Given the description of an element on the screen output the (x, y) to click on. 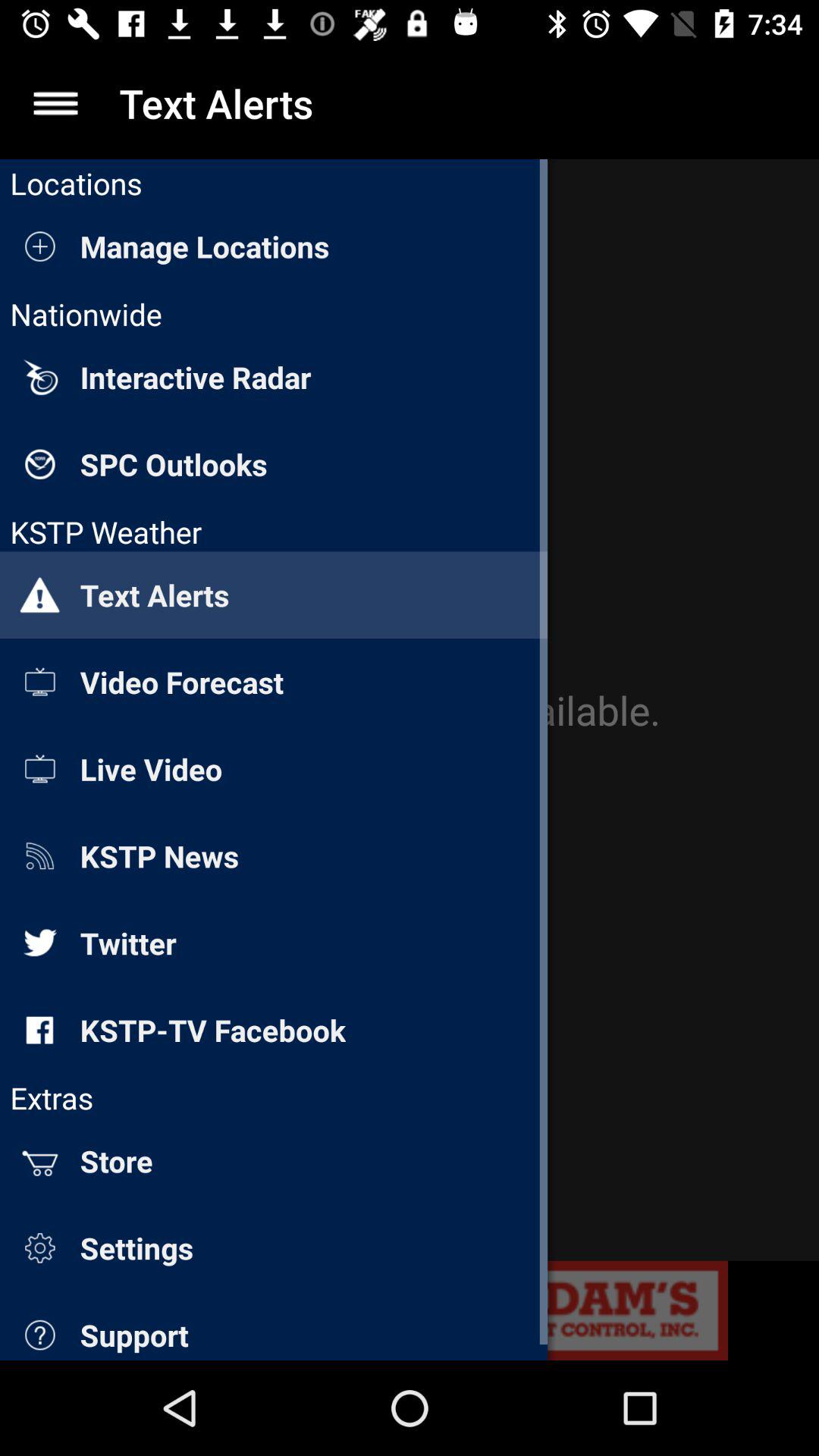
select the app to the left of the text alerts item (55, 103)
